Given the description of an element on the screen output the (x, y) to click on. 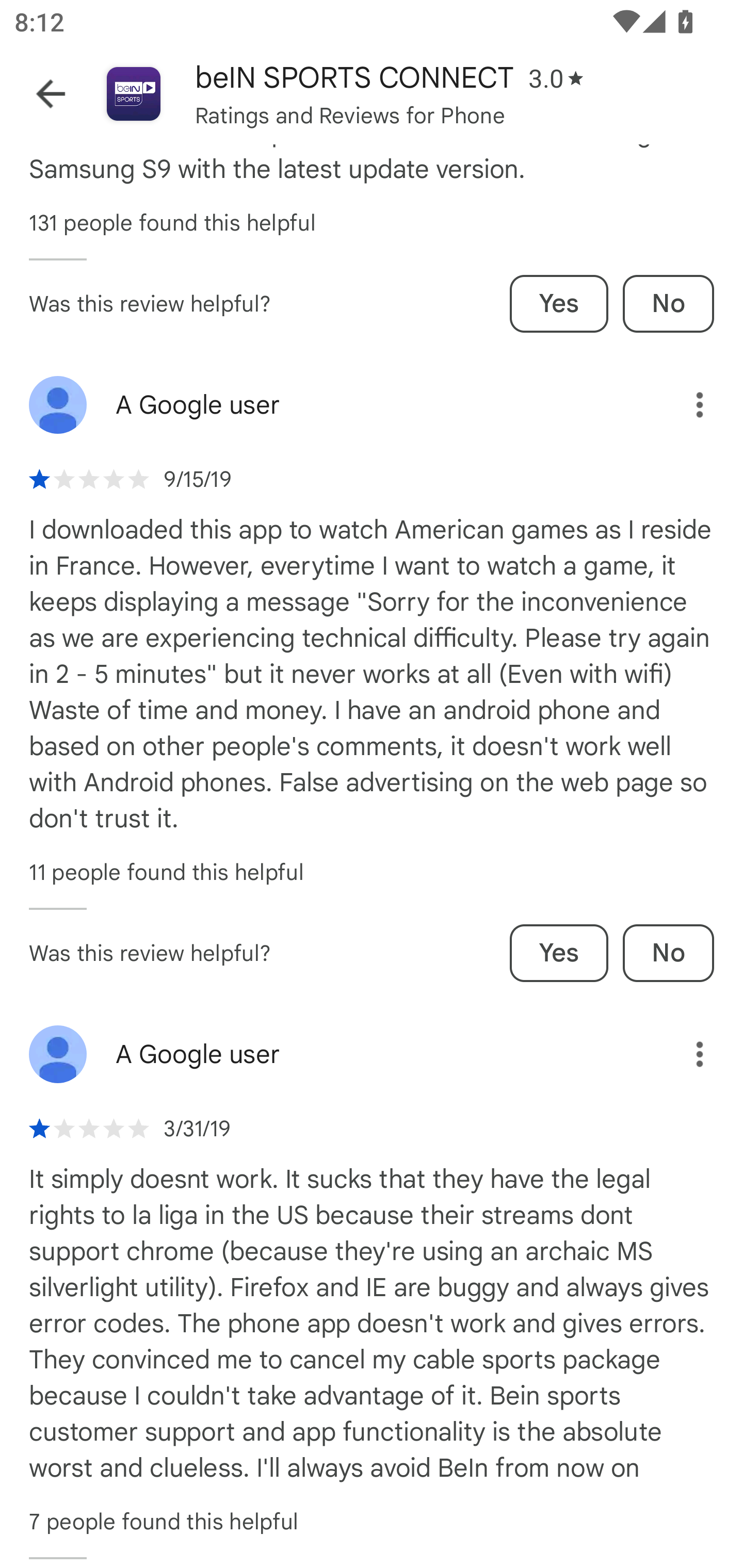
Navigate up (50, 93)
Yes (558, 303)
No (668, 303)
Options (685, 405)
Yes (558, 952)
No (668, 952)
Options (685, 1054)
